Given the description of an element on the screen output the (x, y) to click on. 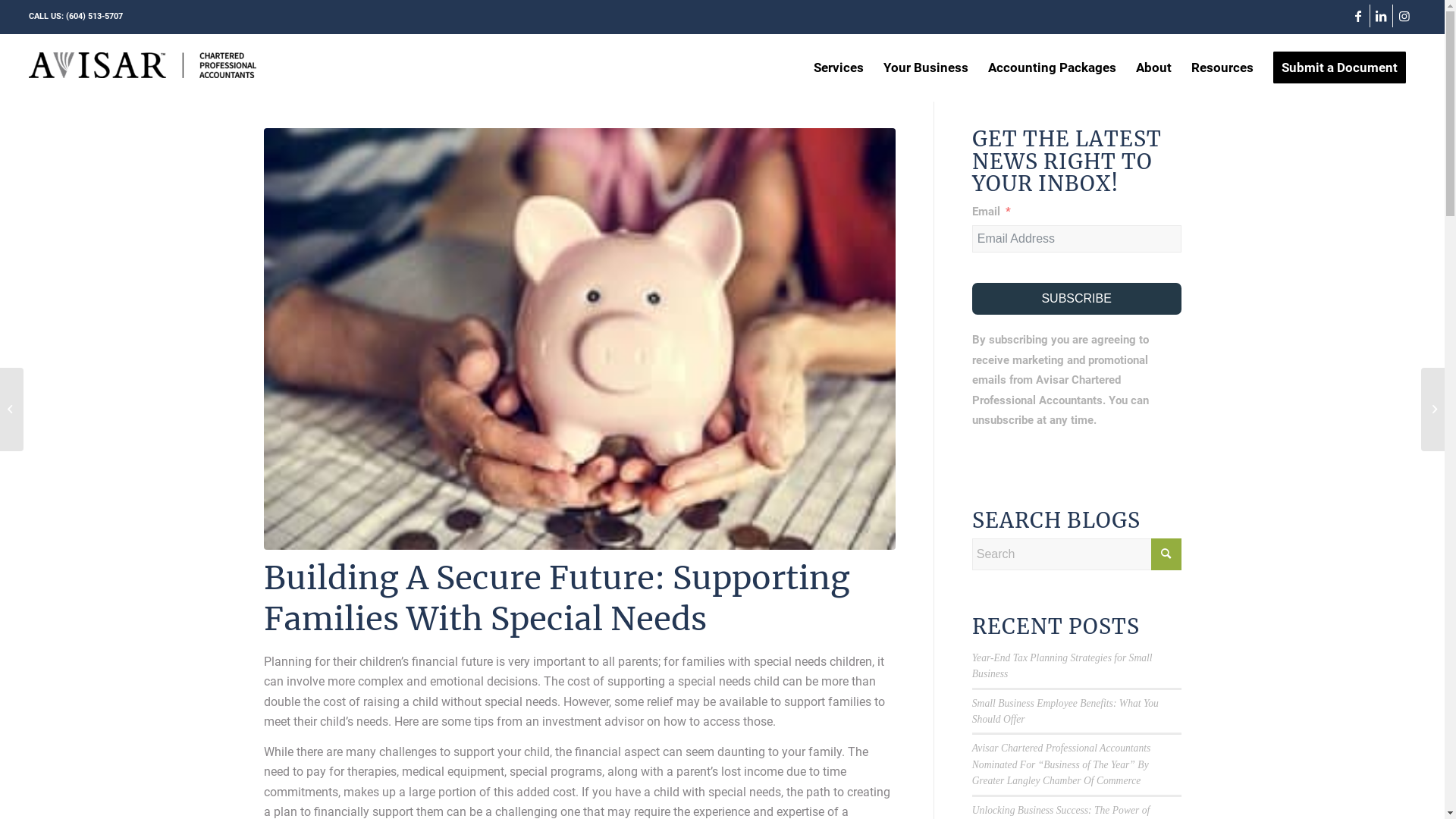
Services Element type: text (838, 67)
Facebook Element type: hover (1358, 15)
Accounting Packages Element type: text (1052, 67)
Your Business Element type: text (925, 67)
Instagram Element type: hover (1404, 15)
SUBSCRIBE Element type: text (1076, 298)
LinkedIn Element type: hover (1381, 15)
Small Business Employee Benefits: What You Should Offer Element type: text (1065, 710)
Secure-Fututre-Special Needs Element type: hover (579, 338)
Submit a Document Element type: text (1339, 67)
About Element type: text (1153, 67)
Year-End Tax Planning Strategies for Small Business Element type: text (1062, 665)
Resources Element type: text (1222, 67)
